Given the description of an element on the screen output the (x, y) to click on. 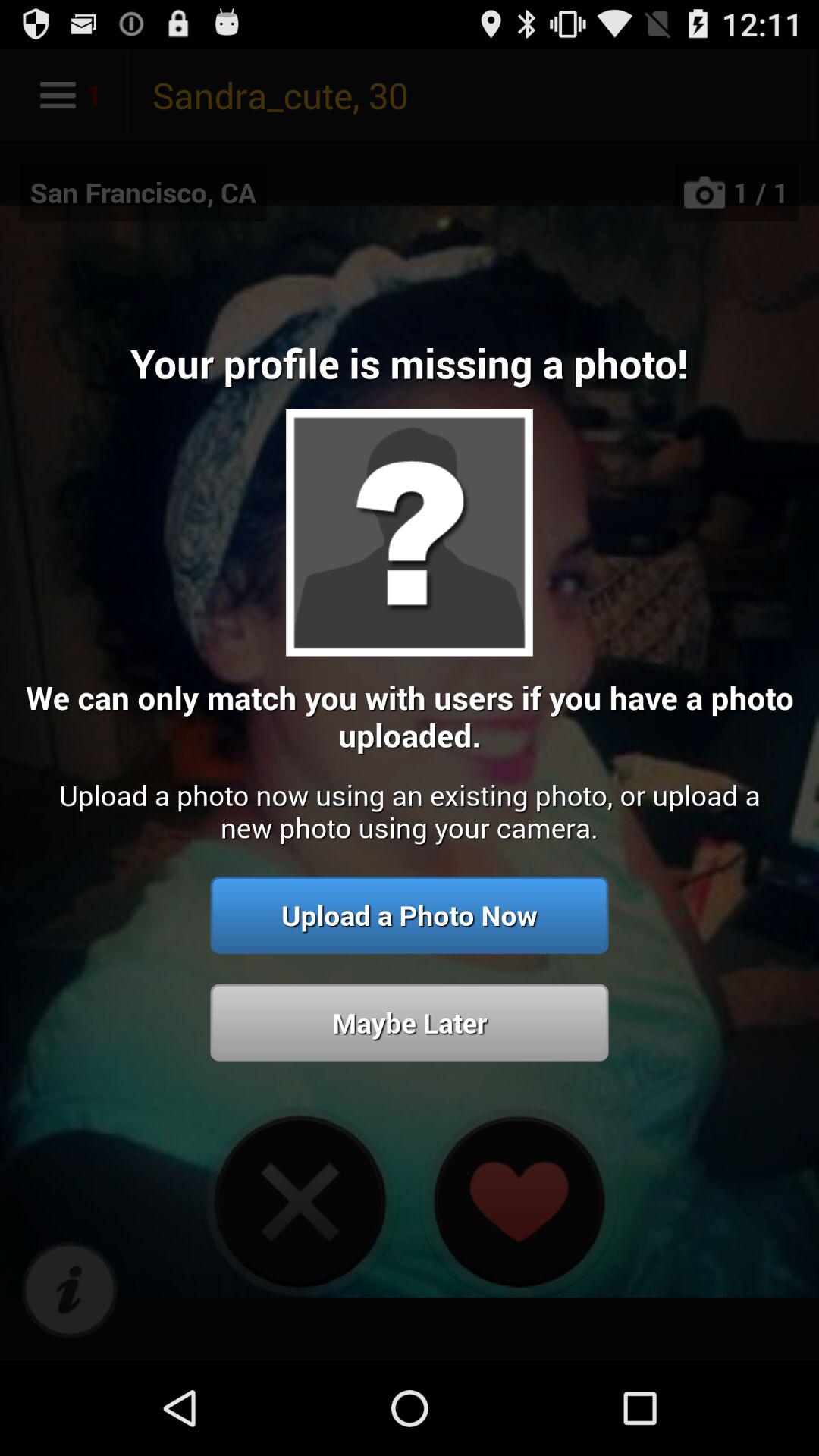
info menu (69, 1290)
